Given the description of an element on the screen output the (x, y) to click on. 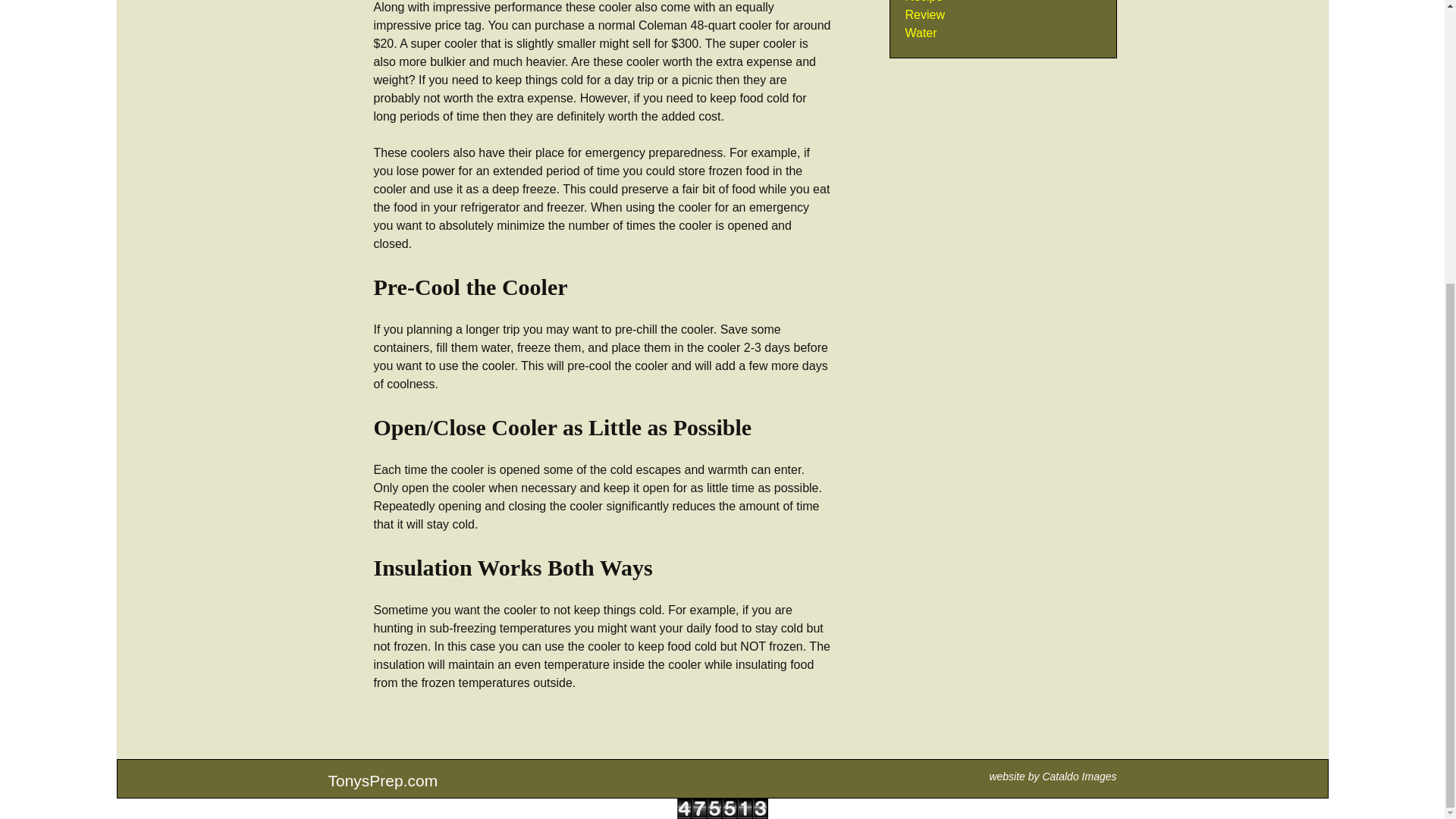
Websites, Programming, Technical Writing (1079, 776)
